Given the description of an element on the screen output the (x, y) to click on. 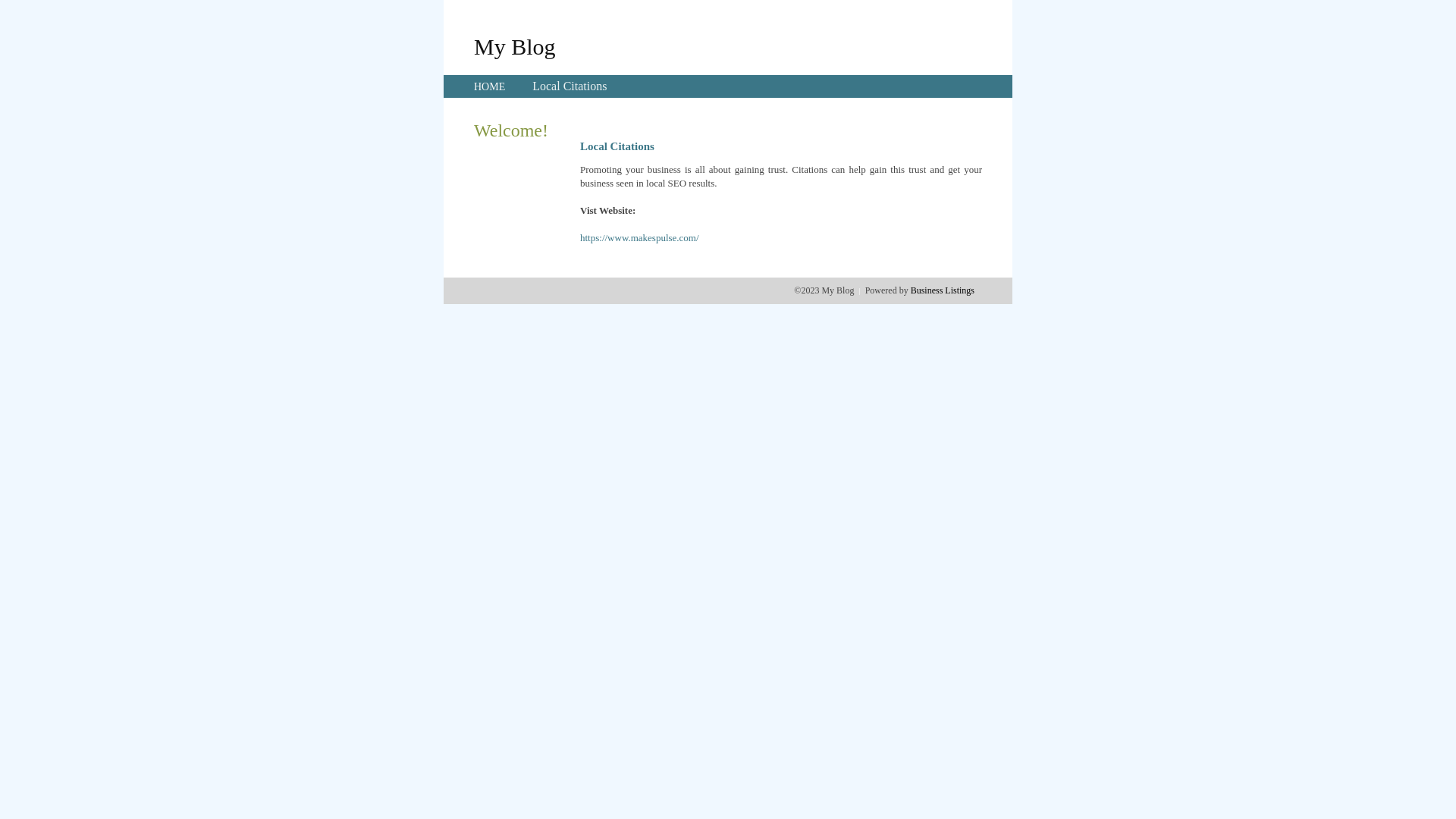
HOME Element type: text (489, 86)
Local Citations Element type: text (569, 85)
My Blog Element type: text (514, 46)
Business Listings Element type: text (942, 290)
https://www.makespulse.com/ Element type: text (639, 237)
